Given the description of an element on the screen output the (x, y) to click on. 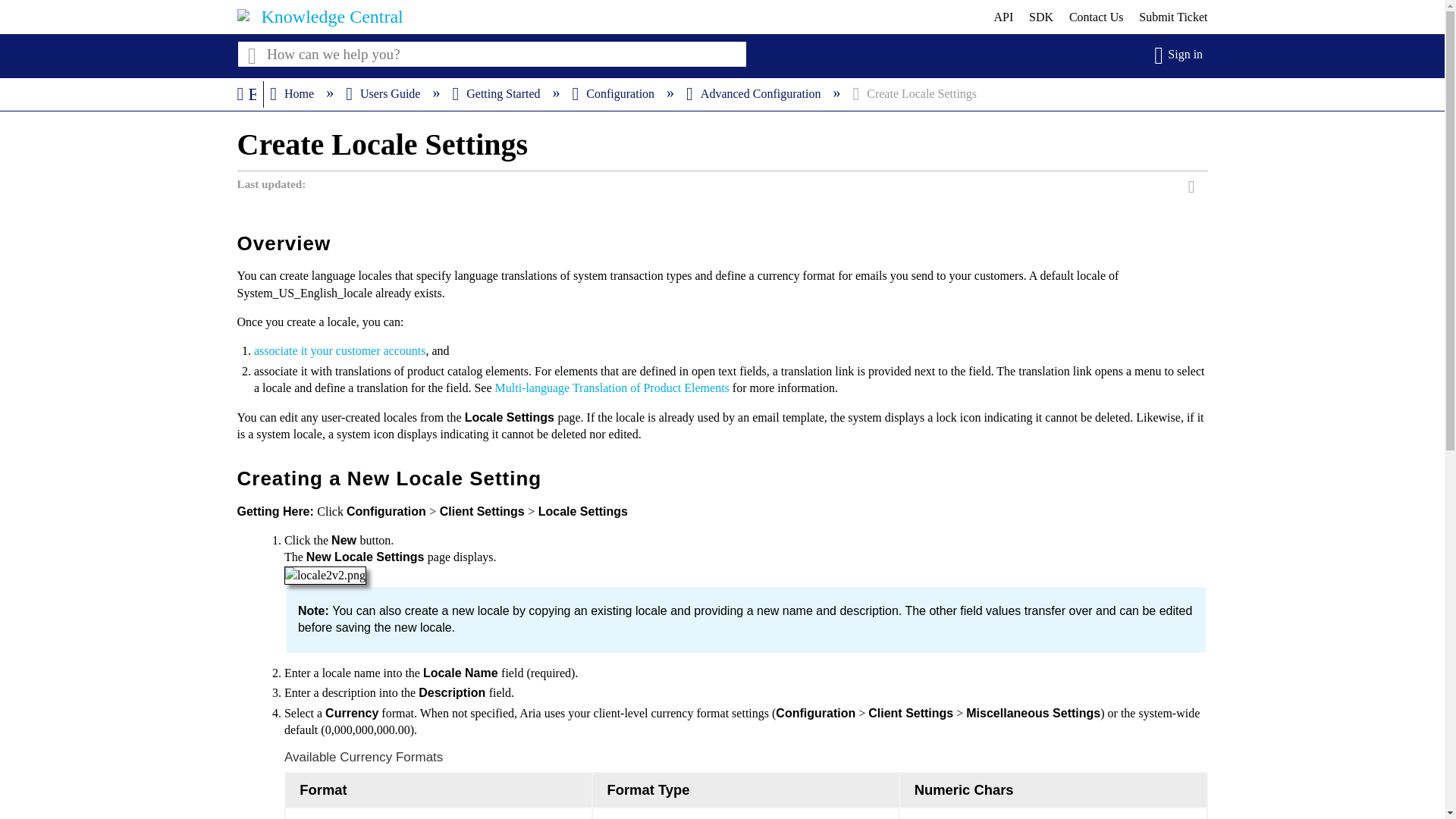
associate it your customer accounts (339, 350)
Multi-language Translation of Product Elements (612, 387)
Home (293, 92)
Knowledge Central (331, 16)
Assign a Locale to an Account (339, 350)
Advanced Configuration (754, 92)
SDK (1040, 16)
Configuration (615, 92)
